Given the description of an element on the screen output the (x, y) to click on. 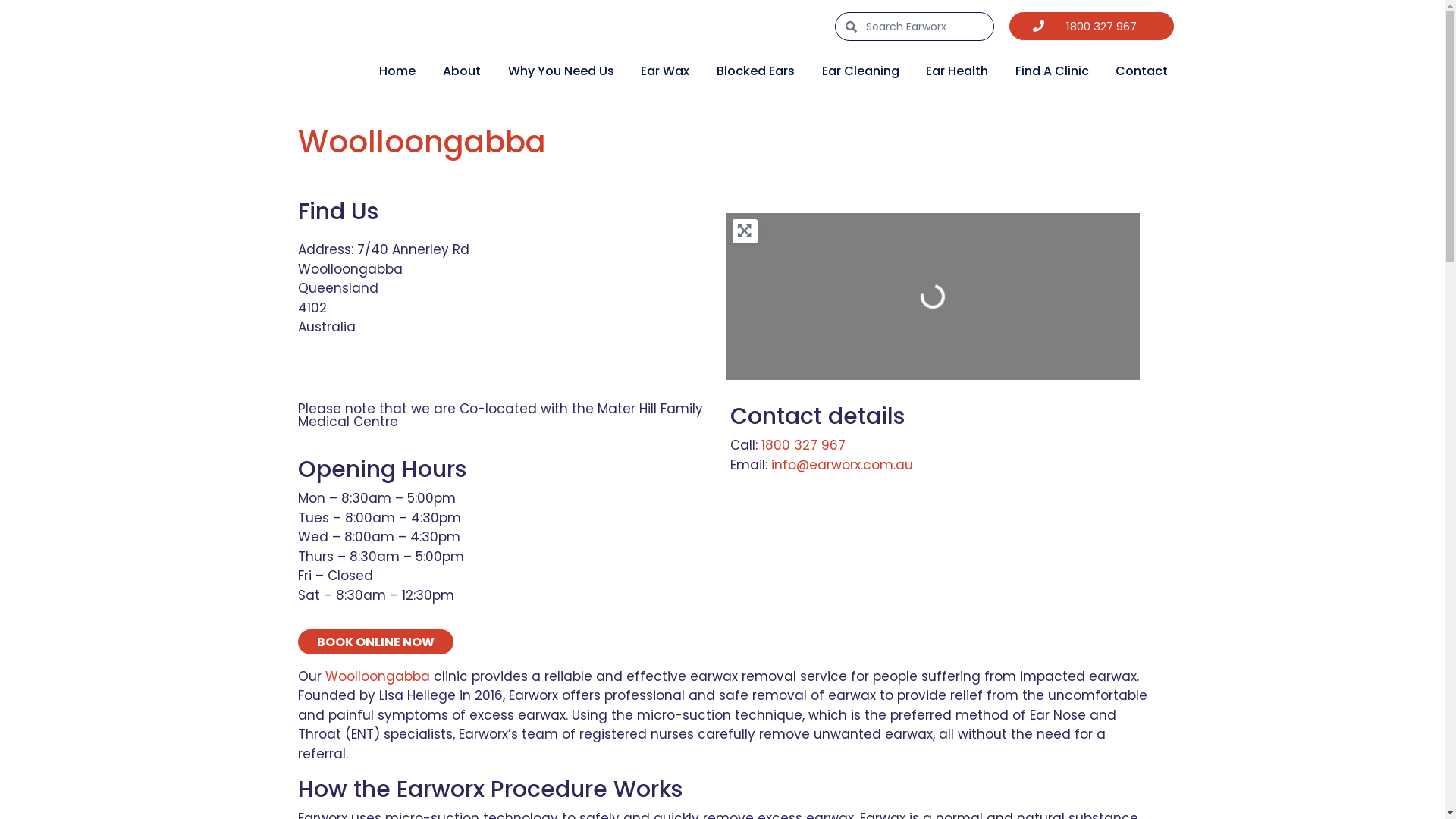
About Element type: text (461, 70)
Why You Need Us Element type: text (560, 70)
Woolloongabba Element type: text (376, 676)
1800 327 967 Element type: text (1091, 26)
Find A Clinic Element type: text (1051, 70)
Blocked Ears Element type: text (755, 70)
Home Element type: text (397, 70)
Woolloongabba Element type: text (421, 141)
Ear Wax Element type: text (664, 70)
BOOK ONLINE NOW Element type: text (374, 641)
Ear Health Element type: text (956, 70)
Contact Element type: text (1142, 70)
Ear Cleaning Element type: text (860, 70)
info@earworx.com.au Element type: text (841, 464)
1800 327 967 Element type: text (803, 445)
